Given the description of an element on the screen output the (x, y) to click on. 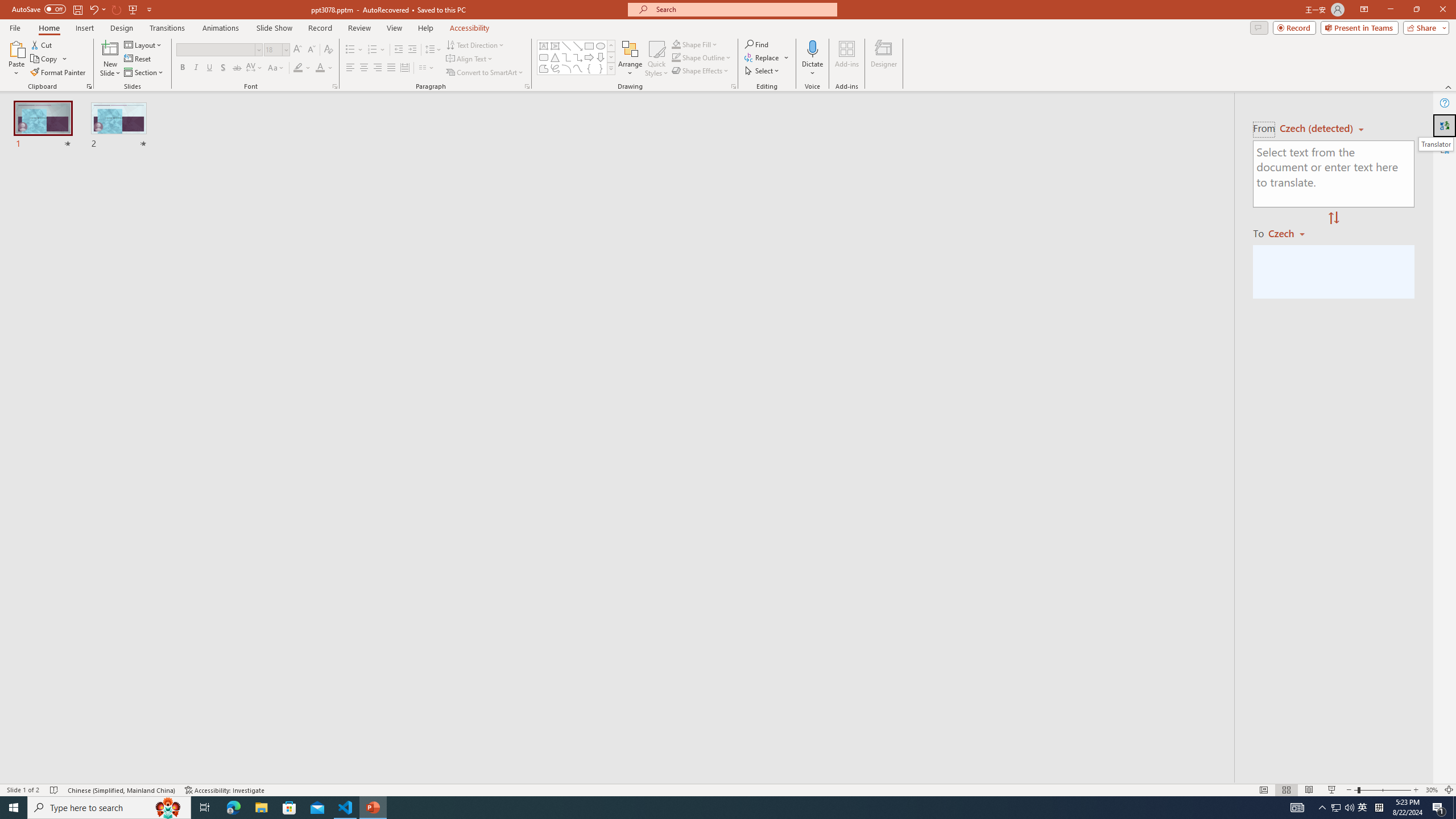
Connector: Elbow (566, 57)
Shape Fill Dark Green, Accent 2 (675, 44)
AutoSave (38, 9)
Cut (42, 44)
Spell Check No Errors (54, 790)
Shape Fill (694, 44)
Restore Down (1416, 9)
Isosceles Triangle (554, 57)
Font (219, 49)
